Given the description of an element on the screen output the (x, y) to click on. 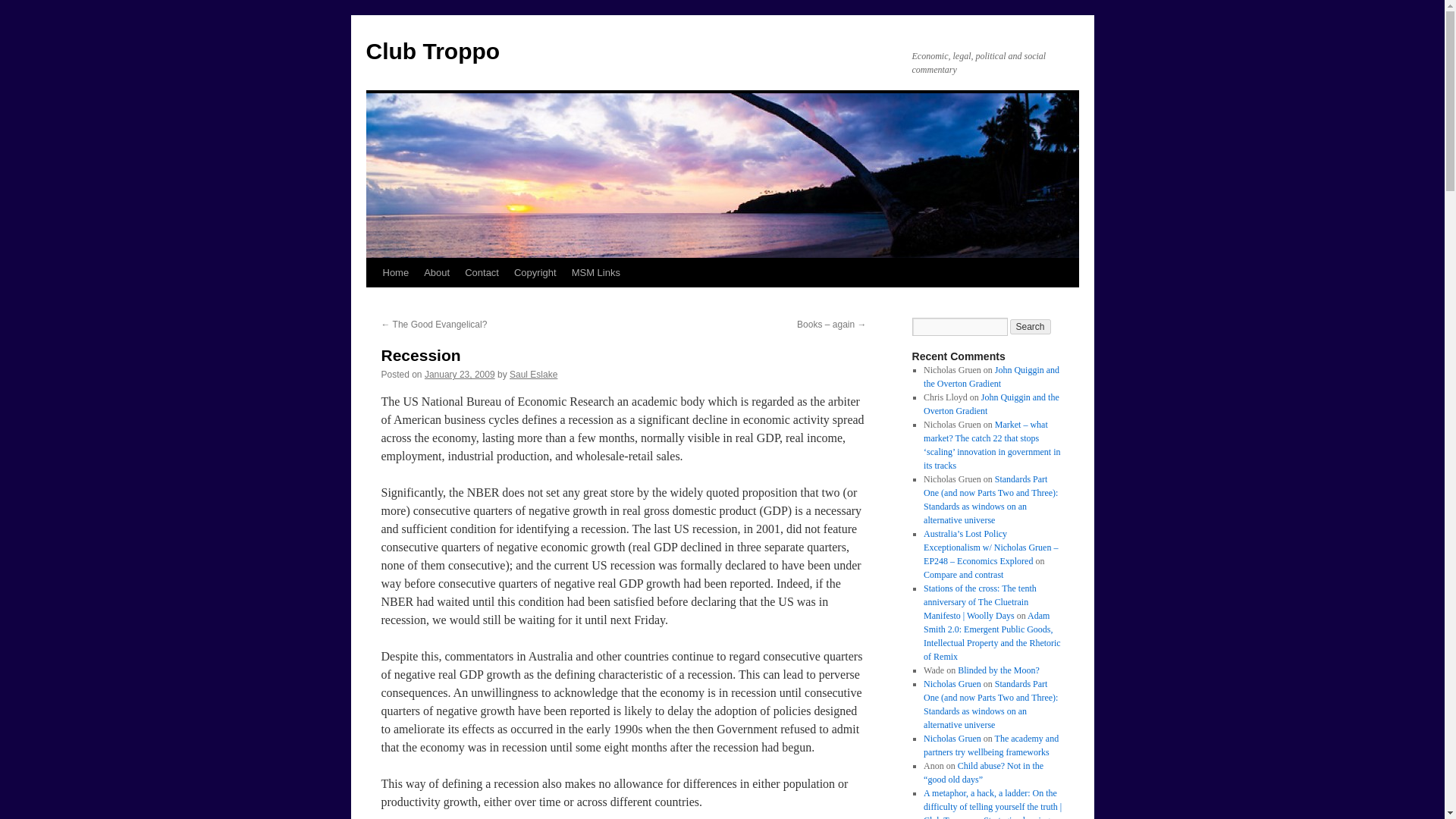
January 23, 2009 (460, 374)
Club Troppo (432, 50)
Club Troppo (432, 50)
Search (1030, 326)
Contact (481, 272)
Copyright (535, 272)
Saul Eslake (533, 374)
View all posts by Saul Eslake (533, 374)
Home (395, 272)
8:03 am (460, 374)
